Given the description of an element on the screen output the (x, y) to click on. 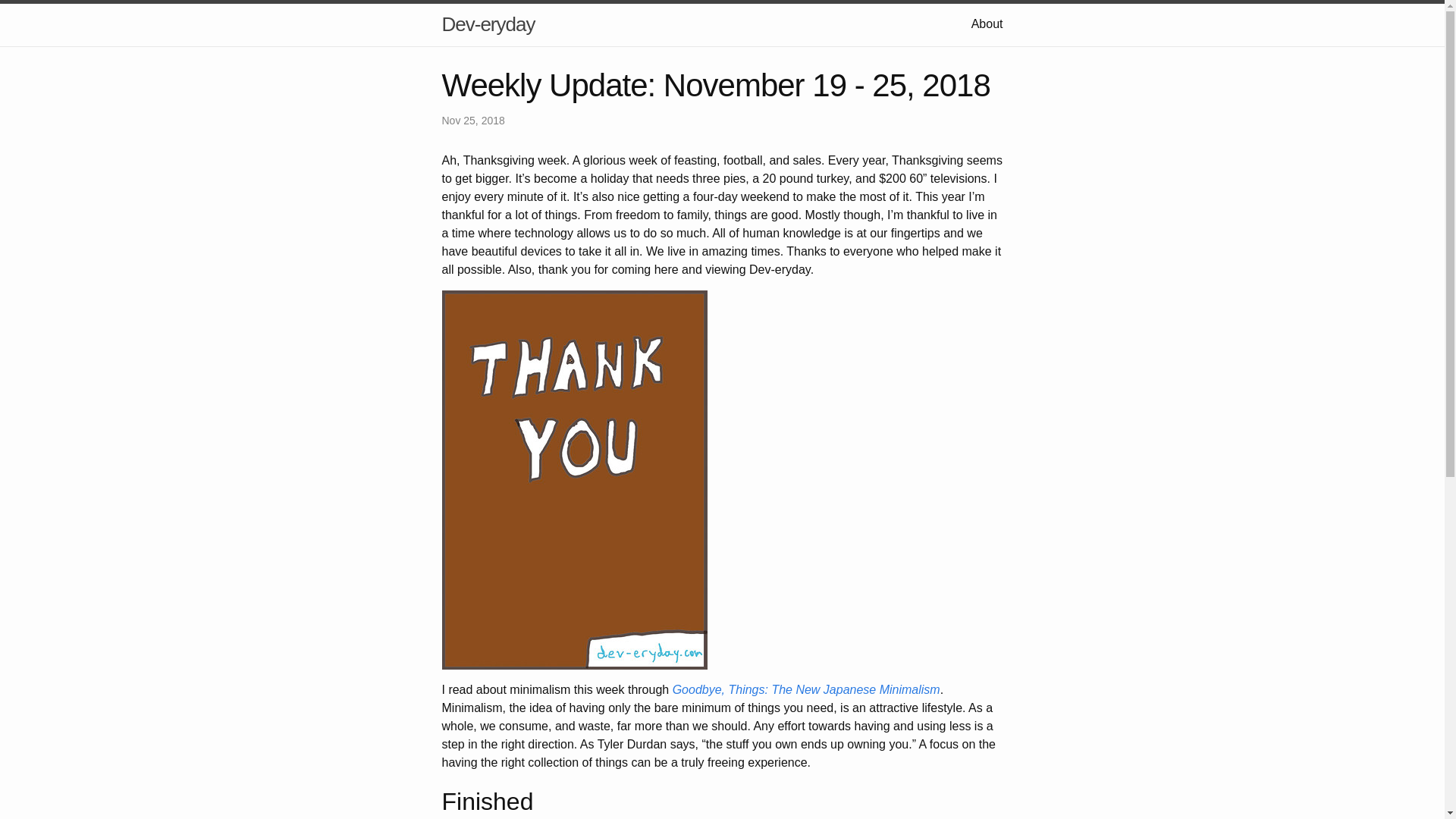
Goodbye, Things: The New Japanese Minimalism (806, 689)
About (987, 23)
Dev-eryday (487, 24)
